Given the description of an element on the screen output the (x, y) to click on. 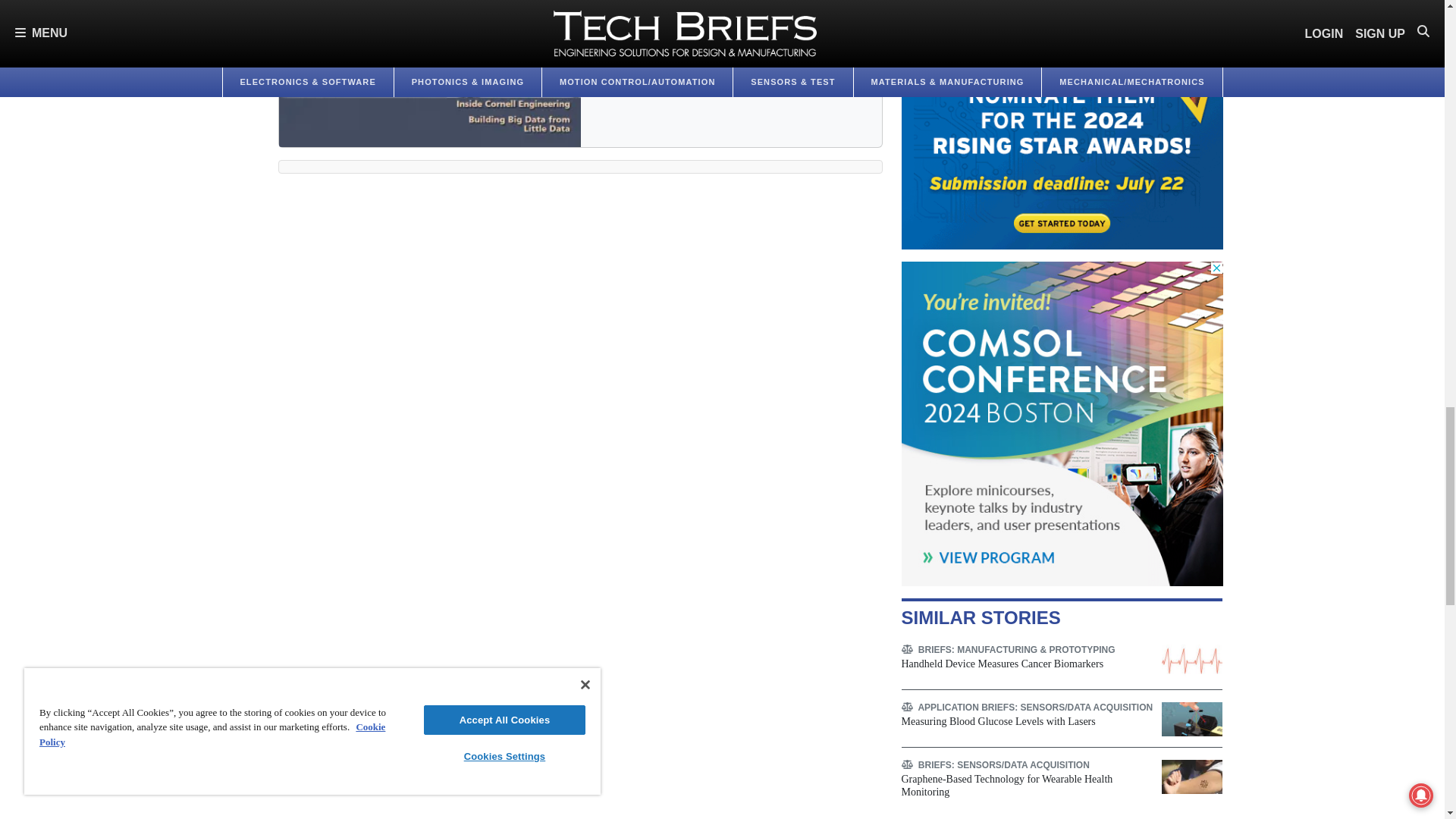
3rd party ad content (1062, 124)
3rd party ad content (1062, 423)
